Given the description of an element on the screen output the (x, y) to click on. 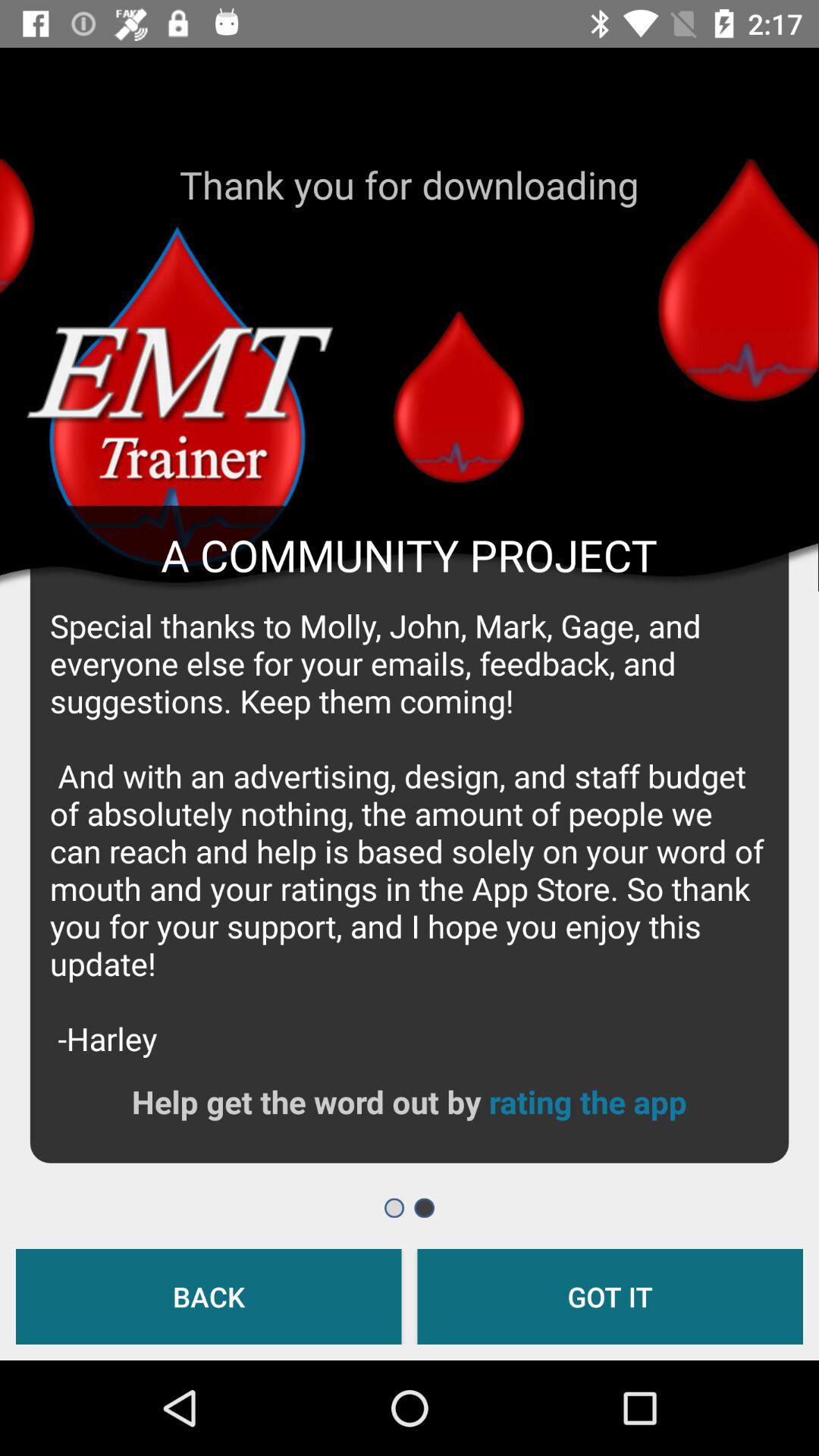
swipe until rating the app (588, 1101)
